Given the description of an element on the screen output the (x, y) to click on. 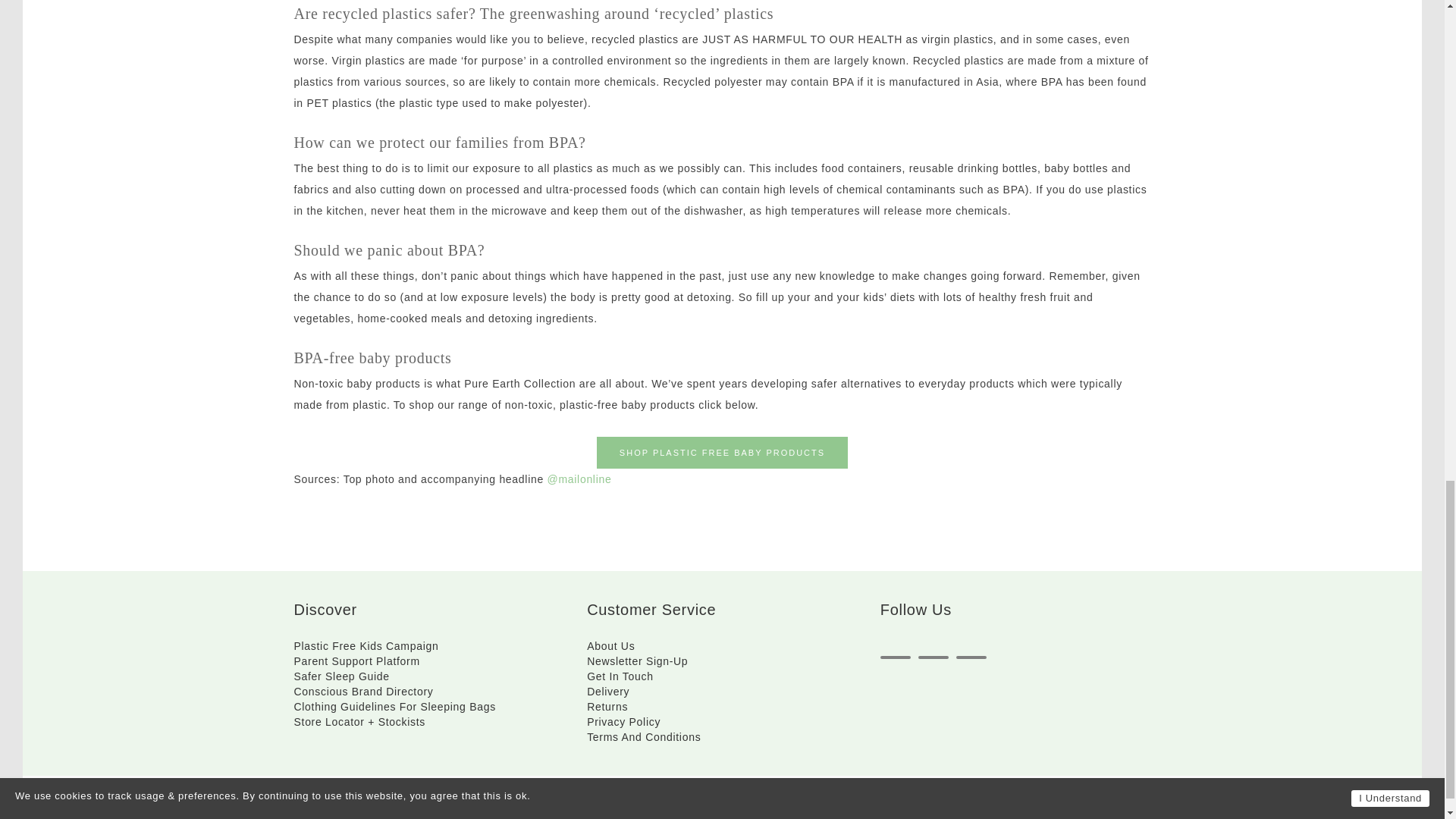
SHOP PLASTIC FREE BABY PRODUCTS (721, 452)
Plastic Free Kids Campaign (366, 645)
